Given the description of an element on the screen output the (x, y) to click on. 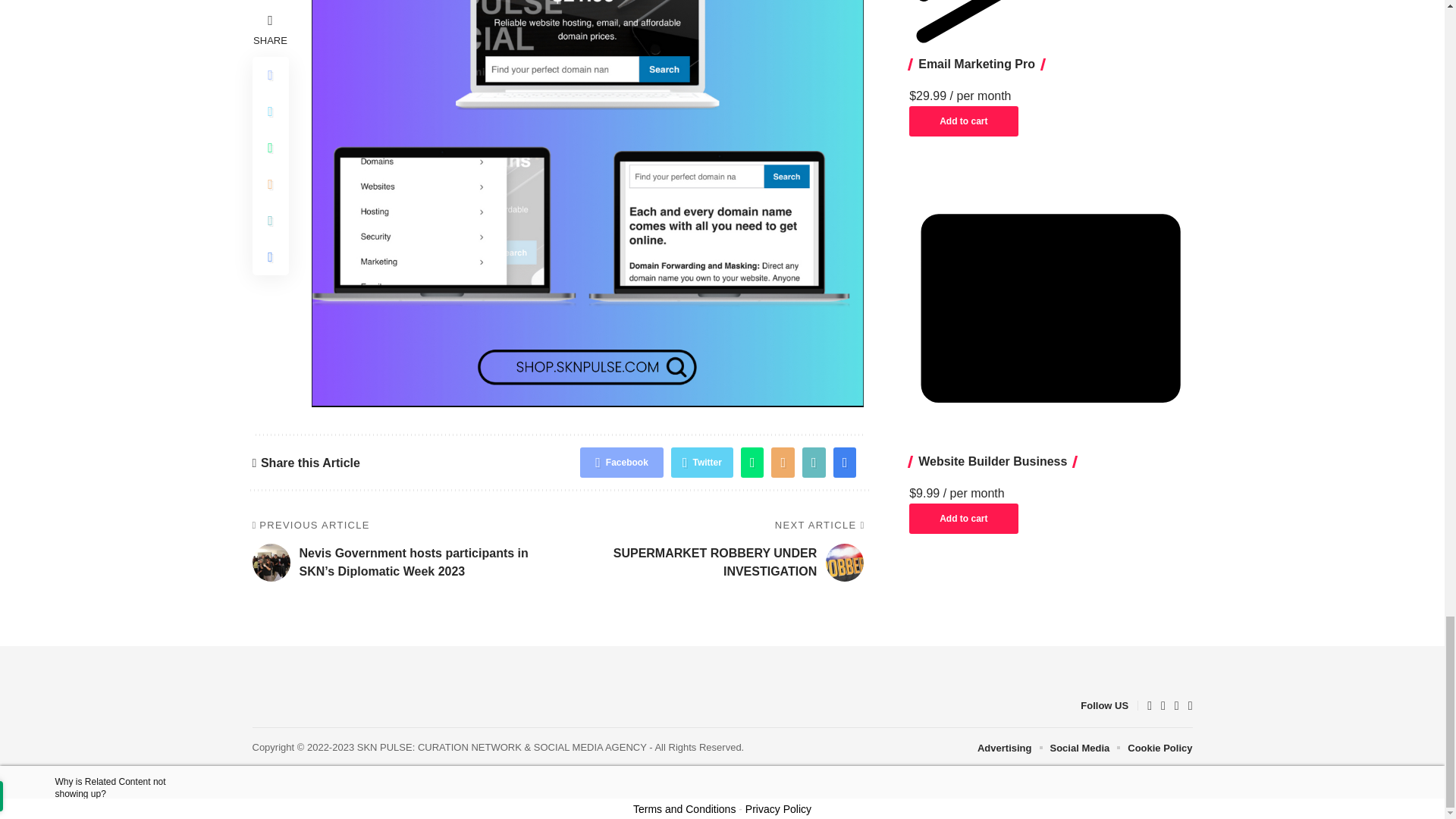
Email Marketing (1050, 25)
Website Builder (1050, 308)
